Given the description of an element on the screen output the (x, y) to click on. 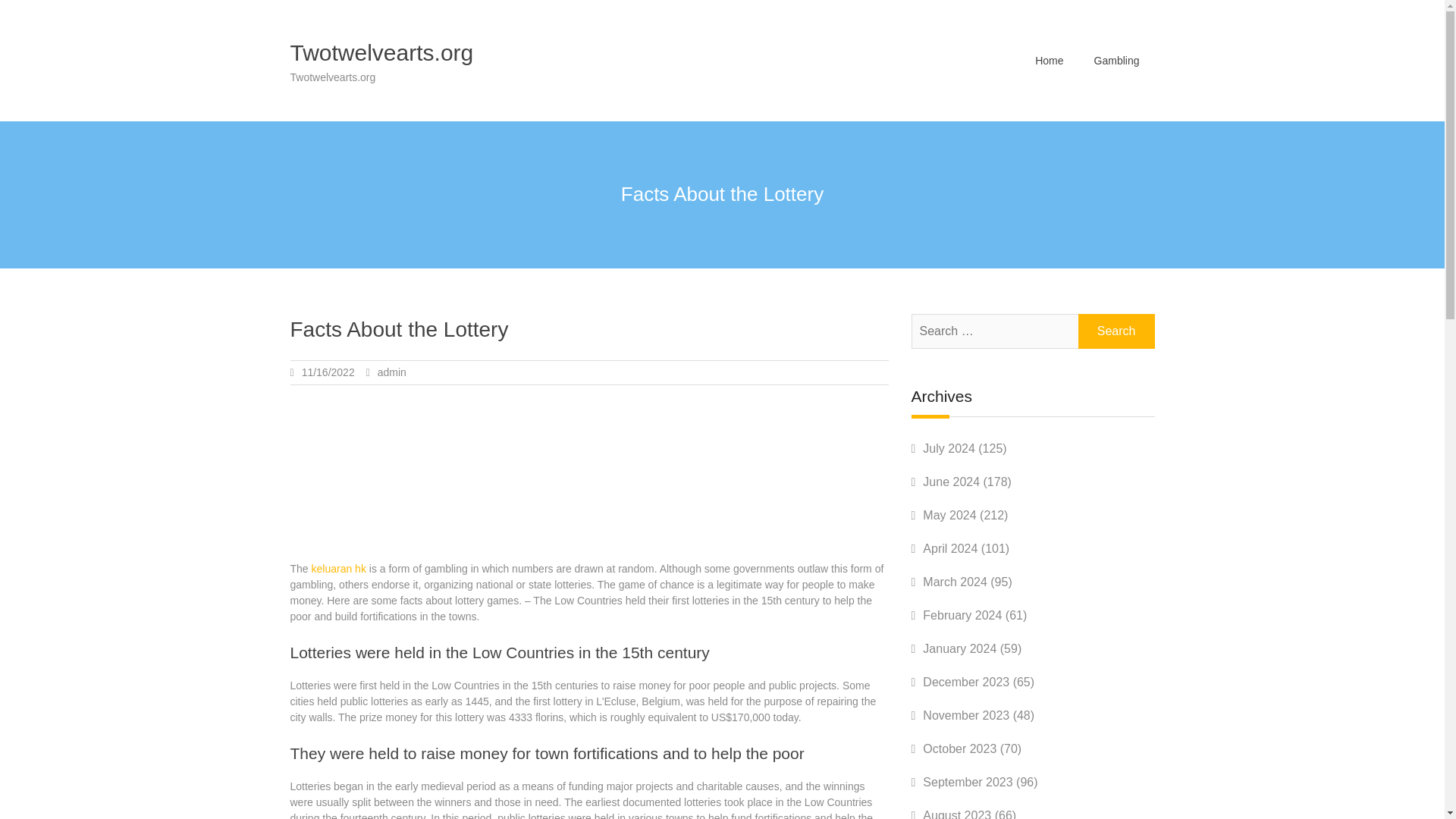
admin (391, 372)
December 2023 (966, 681)
Home (1049, 59)
Search (1116, 330)
February 2024 (962, 615)
November 2023 (966, 715)
Twotwelvearts.org (381, 52)
January 2024 (959, 648)
Search (1116, 330)
July 2024 (949, 448)
Gambling (1116, 59)
Search (1116, 330)
May 2024 (949, 514)
September 2023 (967, 781)
April 2024 (949, 548)
